Given the description of an element on the screen output the (x, y) to click on. 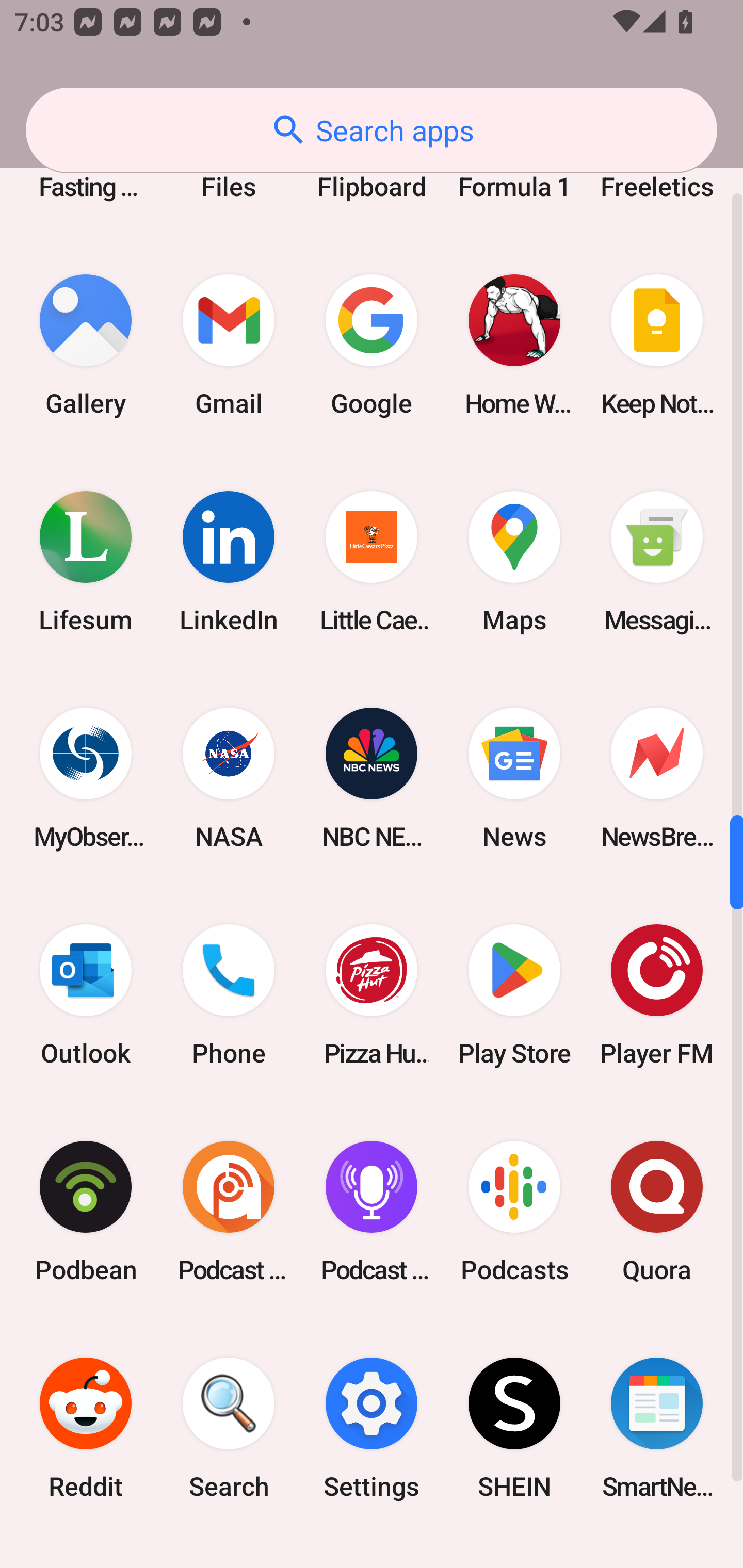
  Search apps (371, 130)
Gallery (85, 344)
Gmail (228, 344)
Google (371, 344)
Home Workout (514, 344)
Keep Notes (656, 344)
Lifesum (85, 561)
LinkedIn (228, 561)
Little Caesars Pizza (371, 561)
Maps (514, 561)
Messaging (656, 561)
MyObservatory (85, 777)
NASA (228, 777)
NBC NEWS (371, 777)
News (514, 777)
NewsBreak (656, 777)
Outlook (85, 994)
Phone (228, 994)
Pizza Hut HK & Macau (371, 994)
Play Store (514, 994)
Player FM (656, 994)
Podbean (85, 1211)
Podcast Addict (228, 1211)
Podcast Player (371, 1211)
Podcasts (514, 1211)
Quora (656, 1211)
Reddit (85, 1428)
Search (228, 1428)
Settings (371, 1428)
SHEIN (514, 1428)
SmartNews (656, 1428)
